Given the description of an element on the screen output the (x, y) to click on. 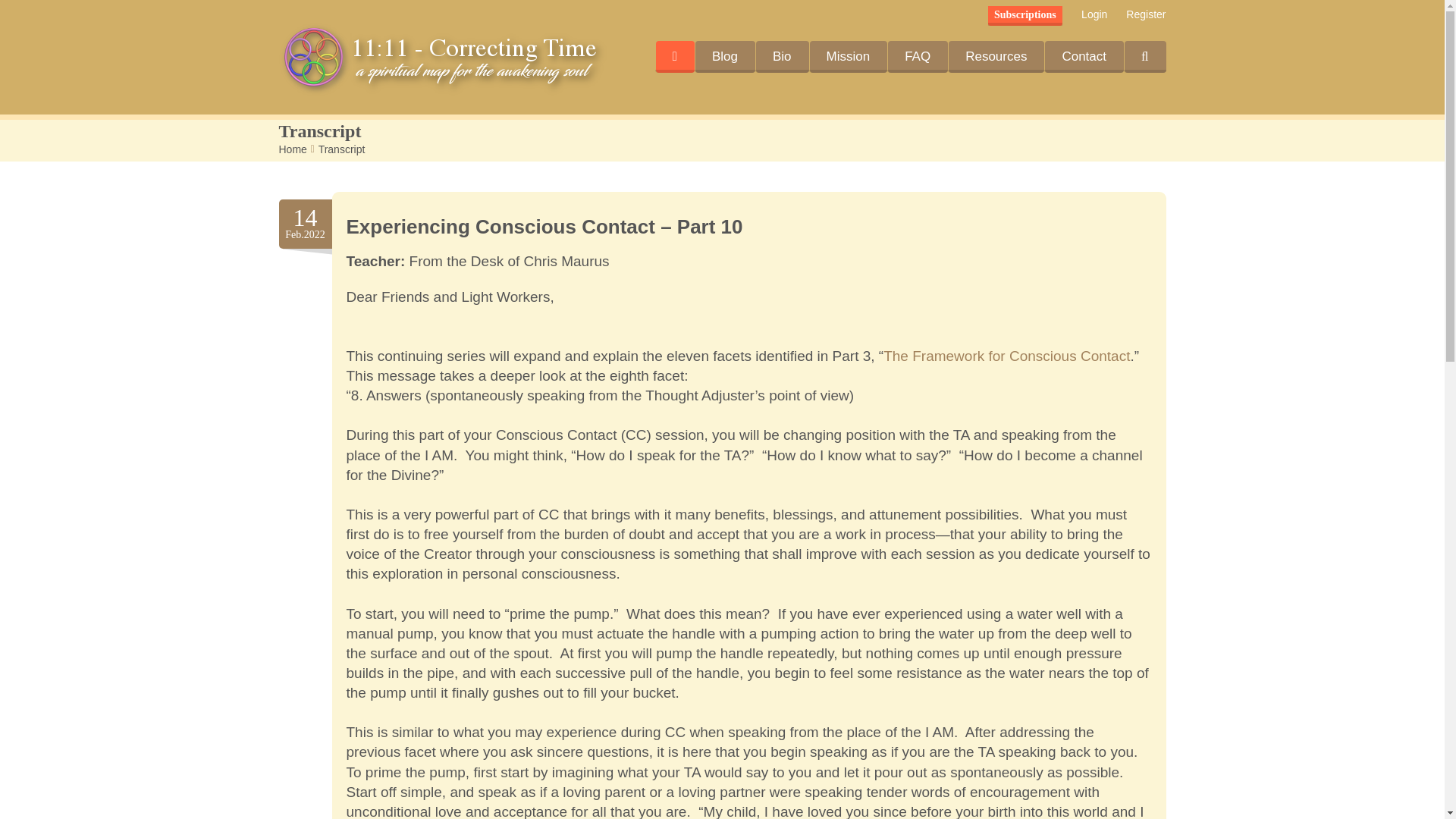
FAQ (916, 56)
Login (1093, 14)
The Framework for Conscious Contact (1006, 355)
Resources (995, 56)
Home (293, 149)
11:11 - Correcting Time (444, 59)
Contact (1083, 56)
Subscriptions (1025, 15)
Register (1145, 14)
Mission (848, 56)
